Given the description of an element on the screen output the (x, y) to click on. 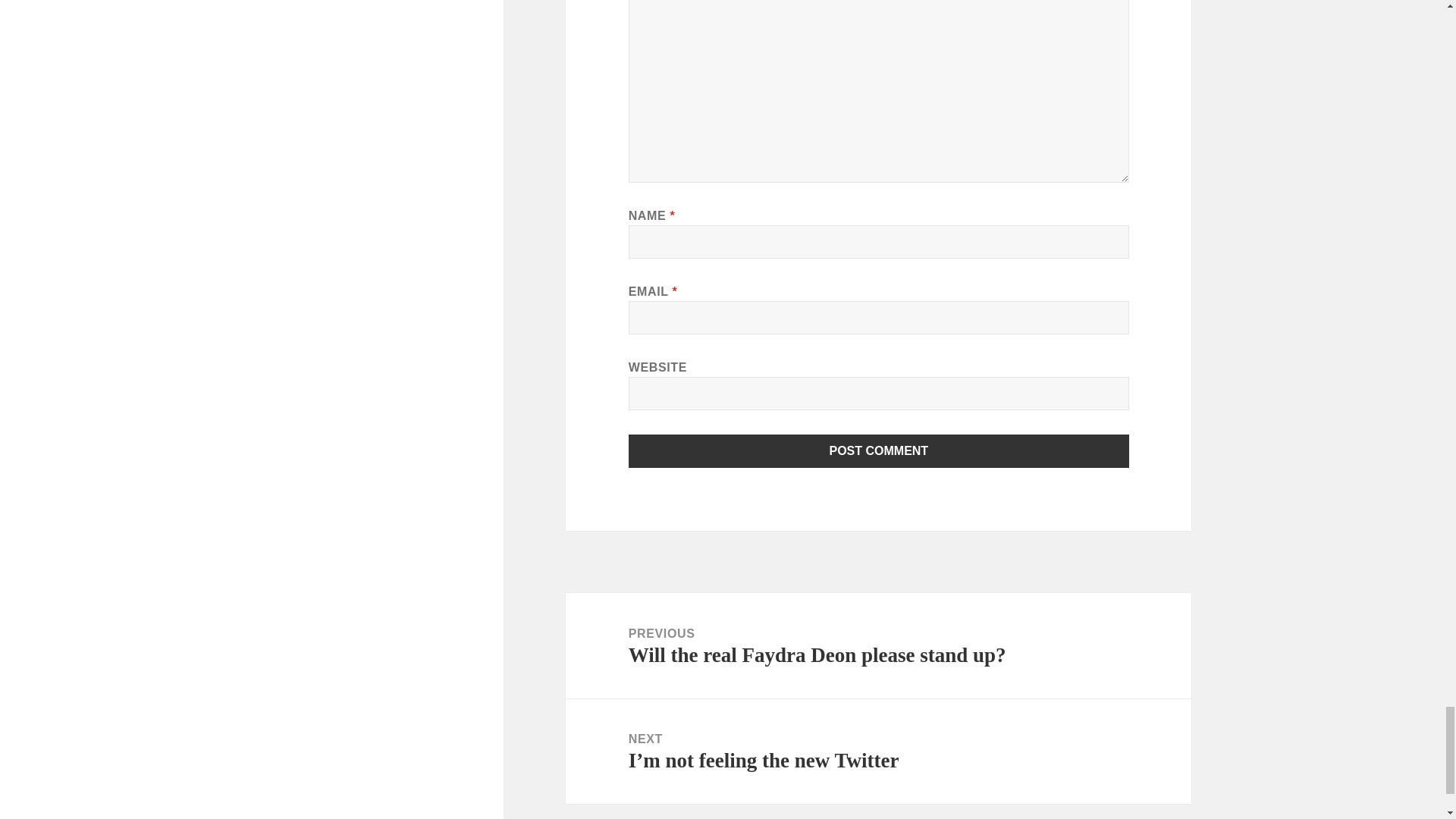
Post Comment (878, 450)
